Given the description of an element on the screen output the (x, y) to click on. 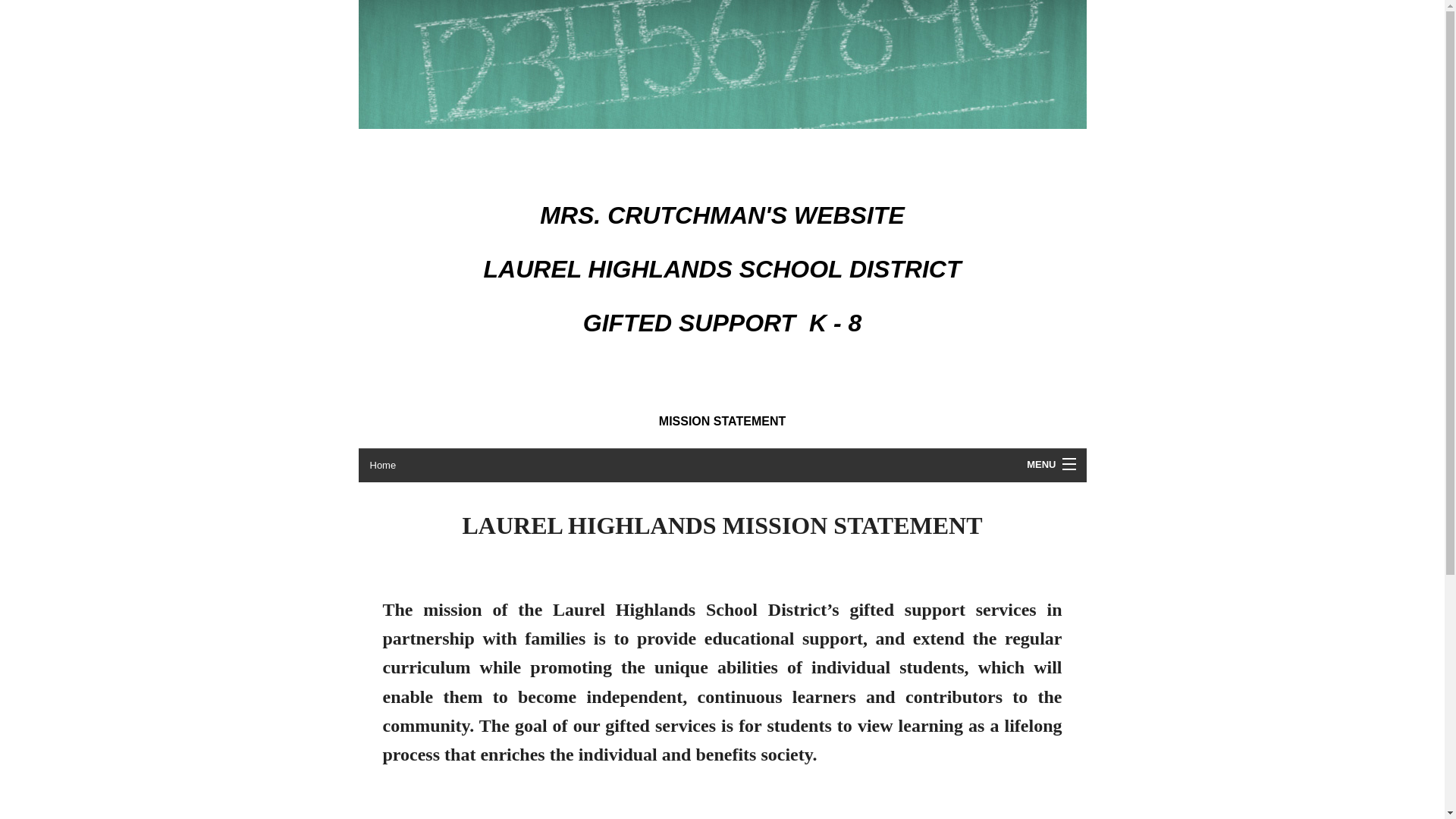
Home (722, 465)
MENU (1050, 464)
